Given the description of an element on the screen output the (x, y) to click on. 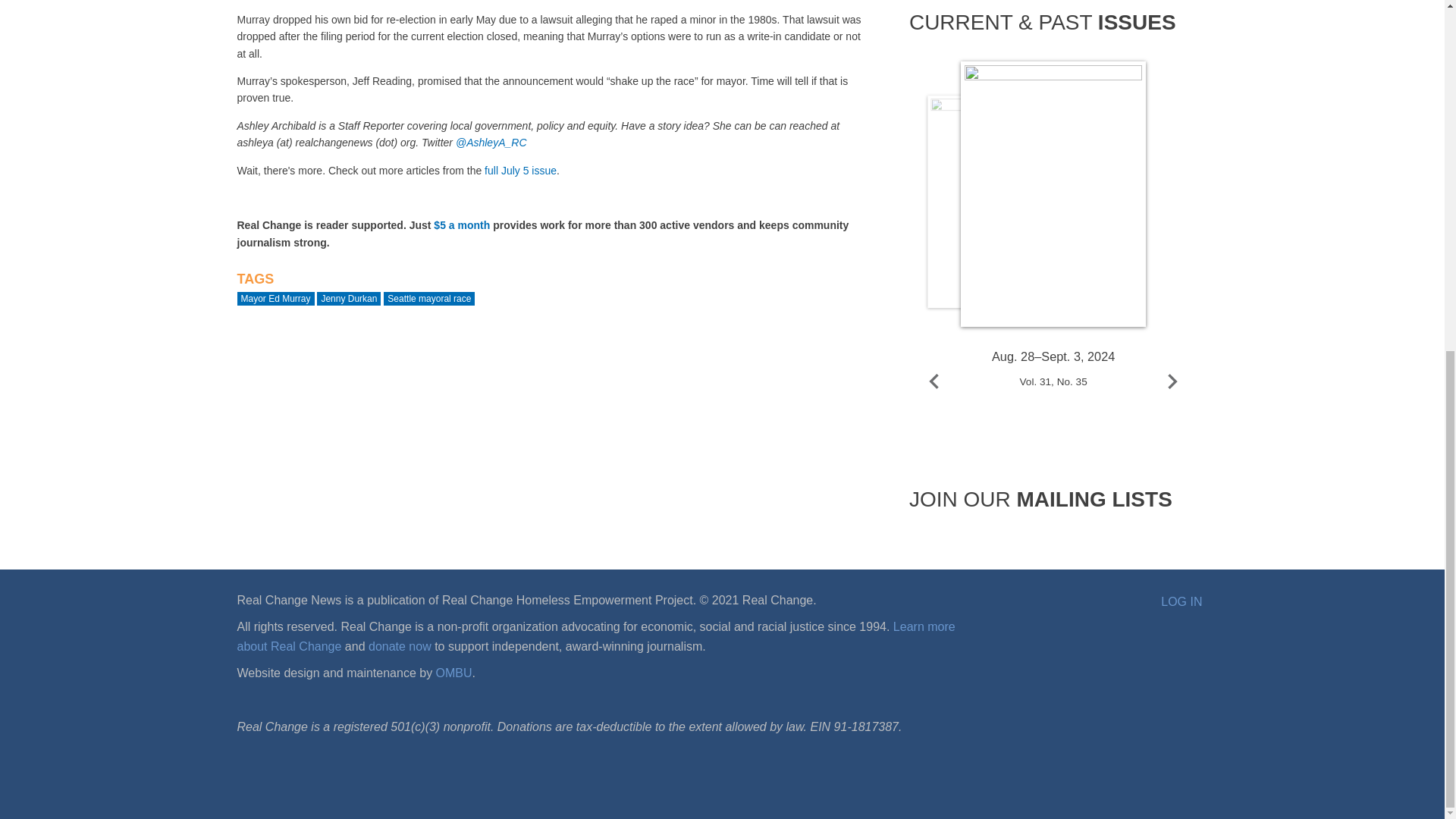
Next issue (1172, 381)
Jenny Durkan (348, 298)
Learn more about Real Change (595, 635)
full July 5 issue (520, 170)
Seattle mayoral race (429, 298)
Mayor Ed Murray (274, 298)
Previous issue (933, 381)
